Given the description of an element on the screen output the (x, y) to click on. 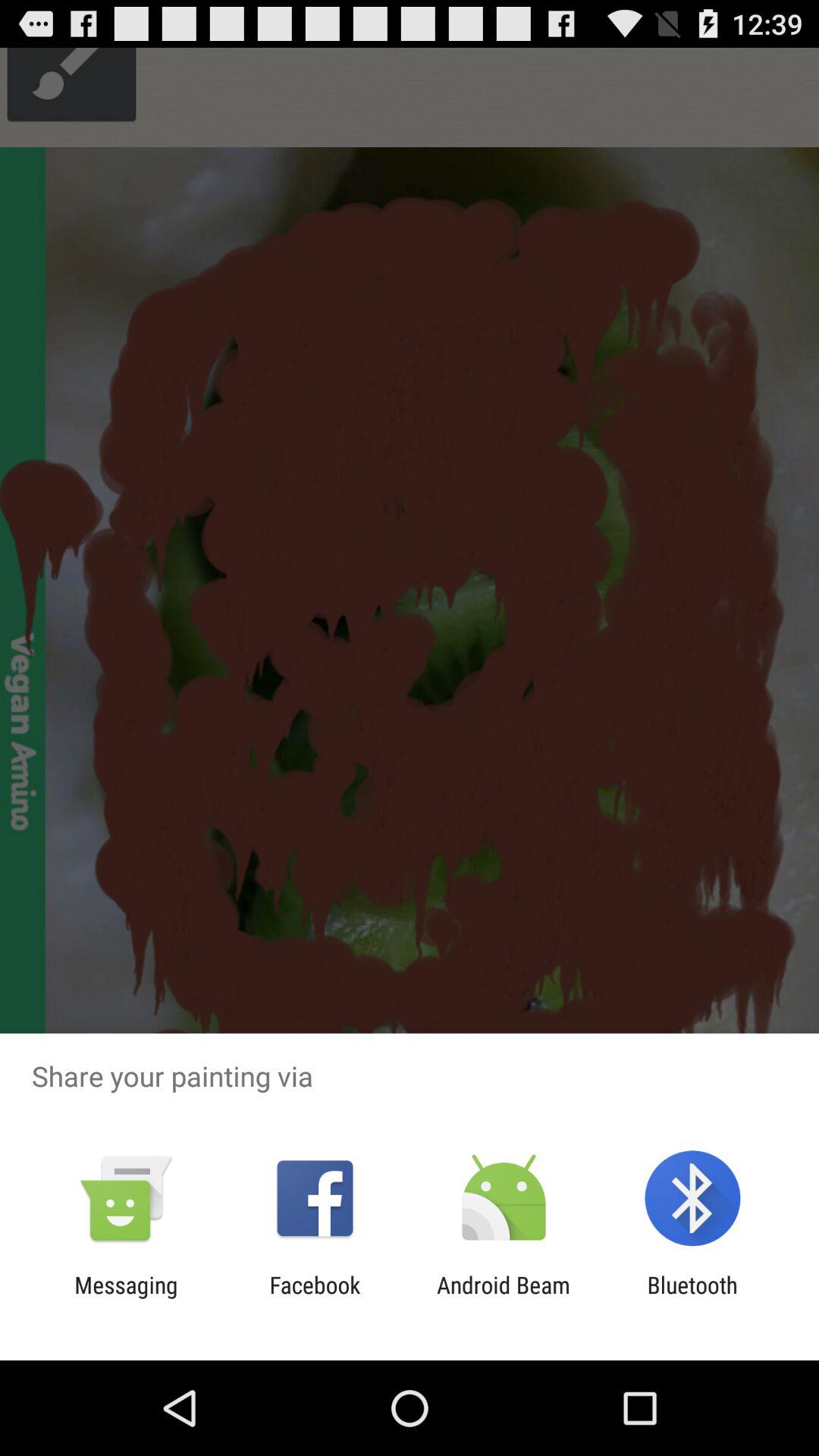
open the app to the right of android beam icon (692, 1298)
